Given the description of an element on the screen output the (x, y) to click on. 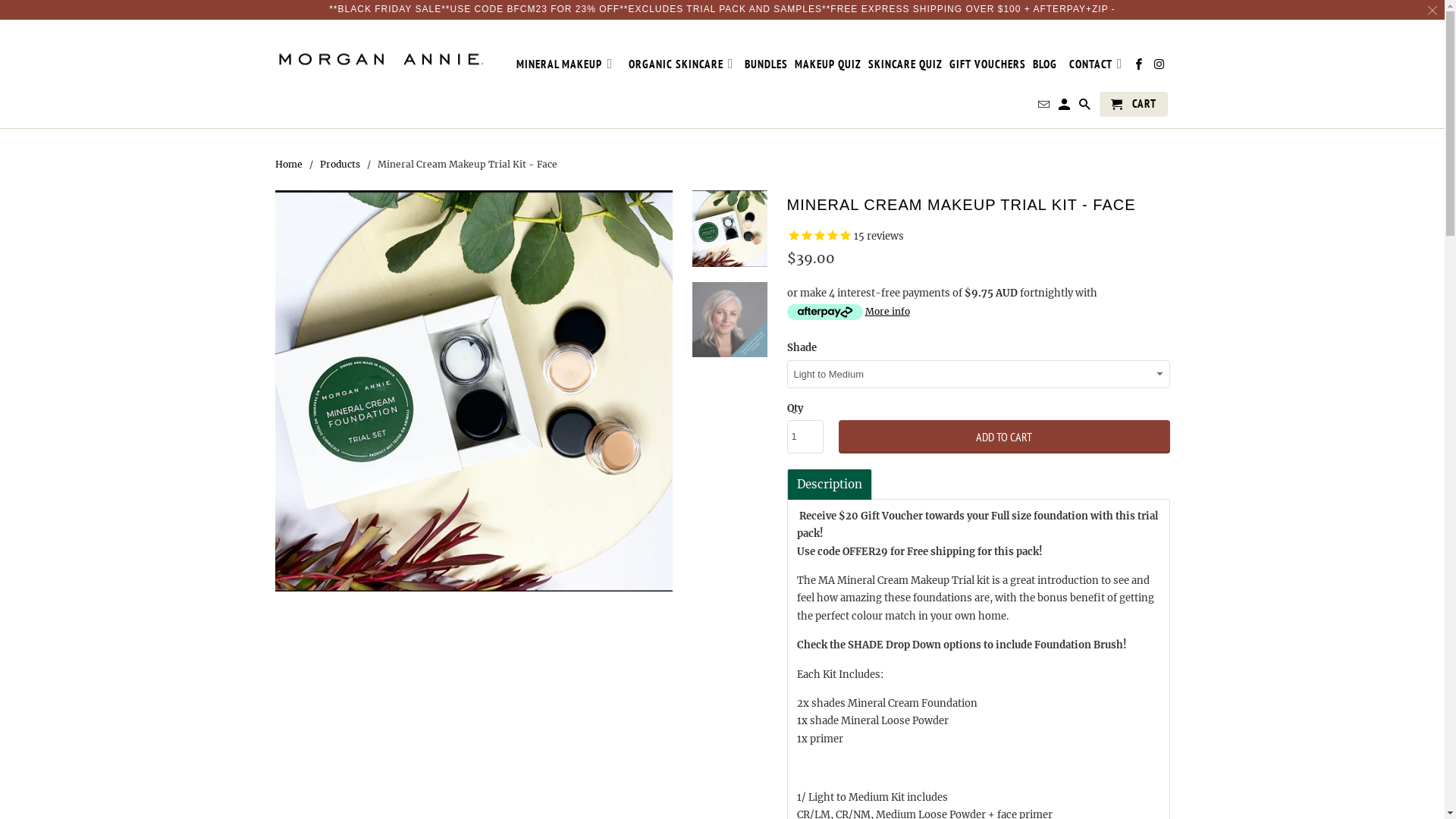
Search Element type: hover (1085, 106)
Home Element type: text (287, 163)
GIFT VOUCHERS Element type: text (987, 66)
ADD TO CART Element type: text (1004, 436)
MAKEUP QUIZ Element type: text (827, 66)
My Account  Element type: hover (1065, 106)
CART Element type: text (1133, 103)
Morgan Annie Cosmetics on Facebook Element type: hover (1139, 66)
Mineral Cream Makeup Trial Kit - Face Element type: hover (472, 390)
SKINCARE QUIZ Element type: text (905, 66)
More info Element type: text (848, 311)
Description Element type: text (828, 483)
Email Morgan Annie Cosmetics Element type: hover (1044, 106)
Morgan Annie Cosmetics Element type: hover (380, 53)
Products Element type: text (340, 163)
Morgan Annie Cosmetics on Instagram Element type: hover (1160, 66)
BLOG Element type: text (1044, 66)
BUNDLES Element type: text (765, 66)
